Given the description of an element on the screen output the (x, y) to click on. 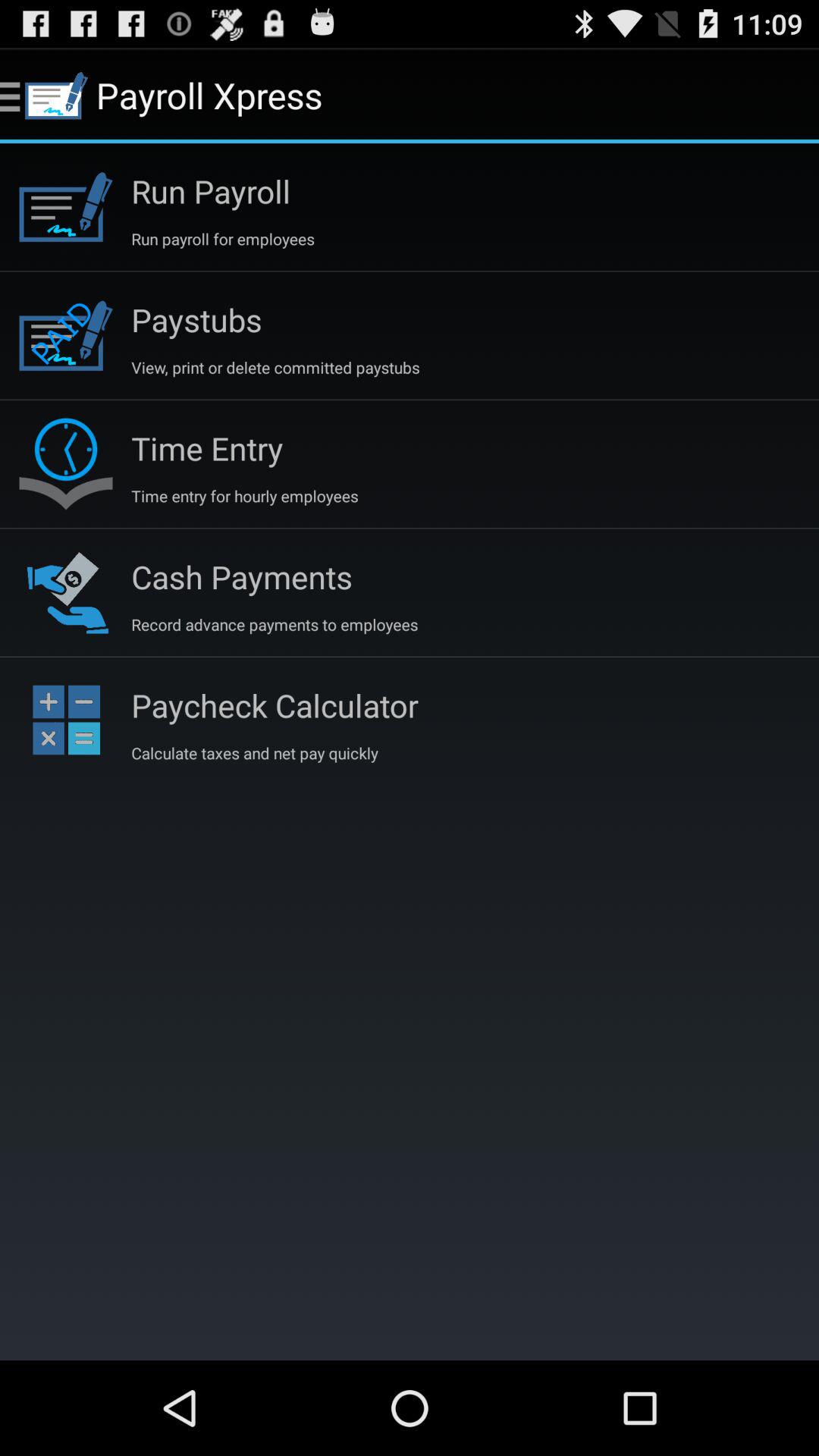
launch the icon above time entry item (275, 367)
